Given the description of an element on the screen output the (x, y) to click on. 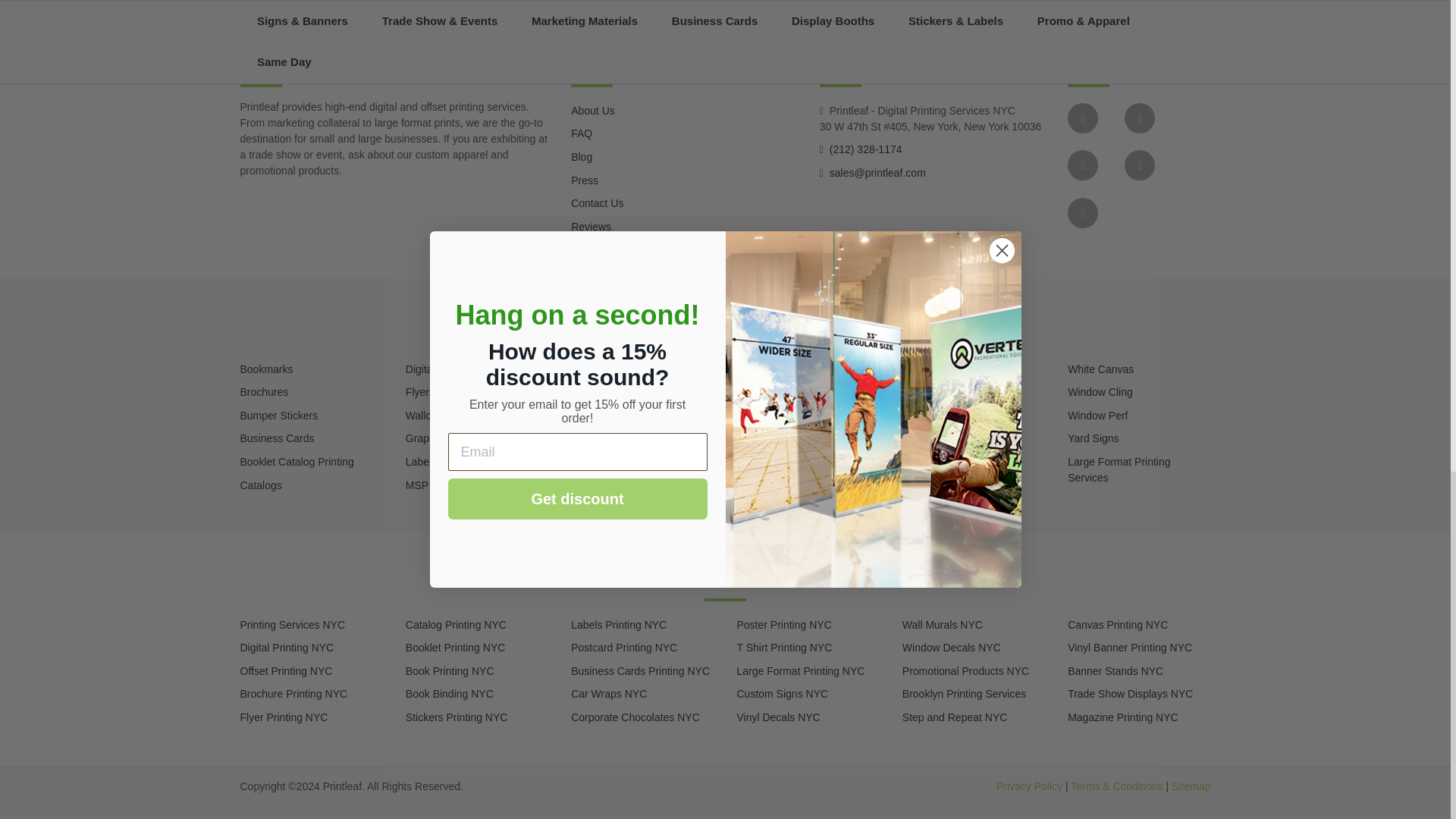
linkedin (1139, 164)
instagram (1082, 164)
twitter (1139, 118)
pinterest (1082, 213)
facebook (1082, 118)
